Given the description of an element on the screen output the (x, y) to click on. 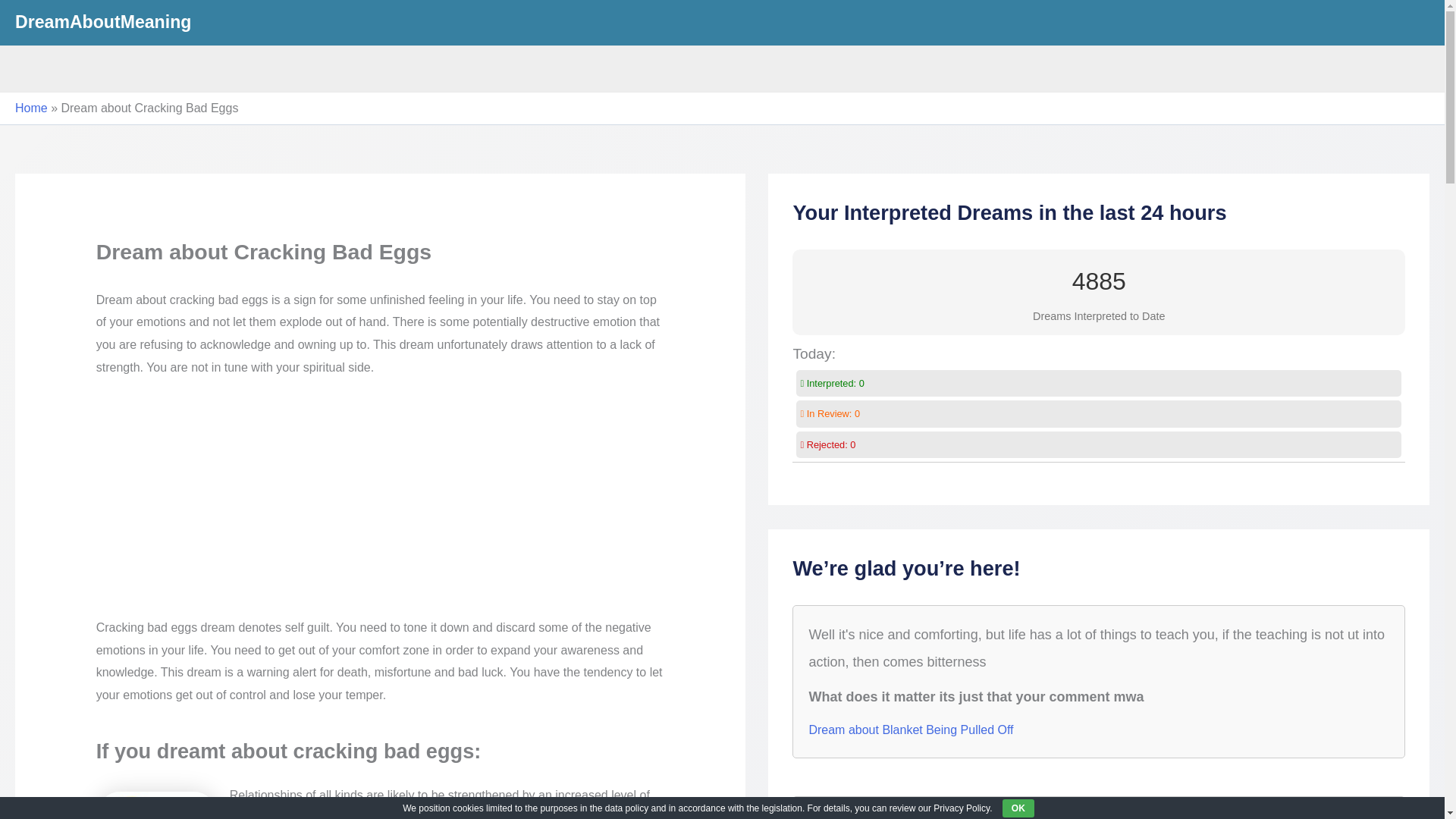
Dream about Blanket Being Pulled Off (910, 730)
Home (31, 107)
Advertisement (380, 504)
DreamAboutMeaning (102, 21)
